Given the description of an element on the screen output the (x, y) to click on. 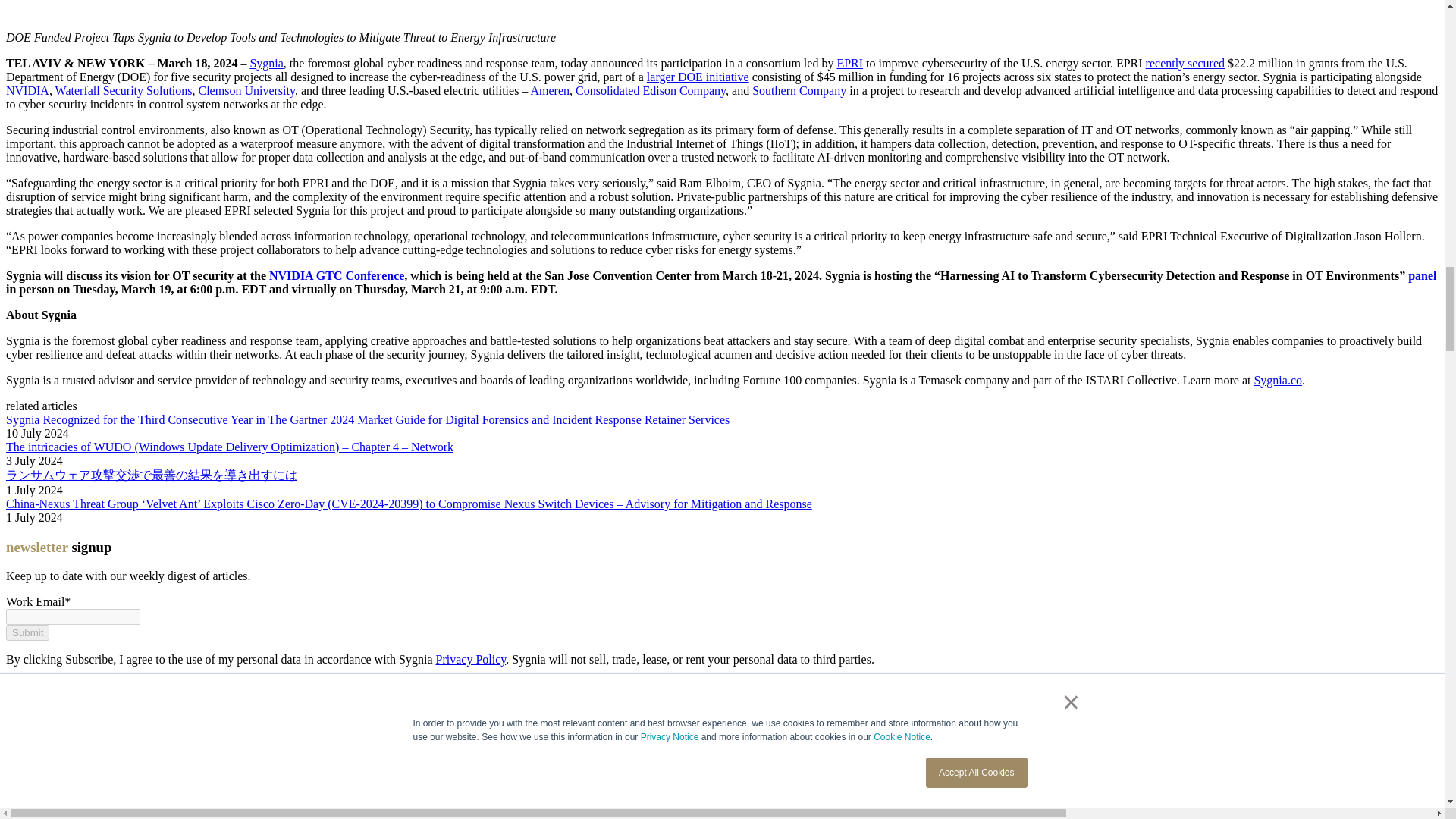
Submit (27, 632)
